Given the description of an element on the screen output the (x, y) to click on. 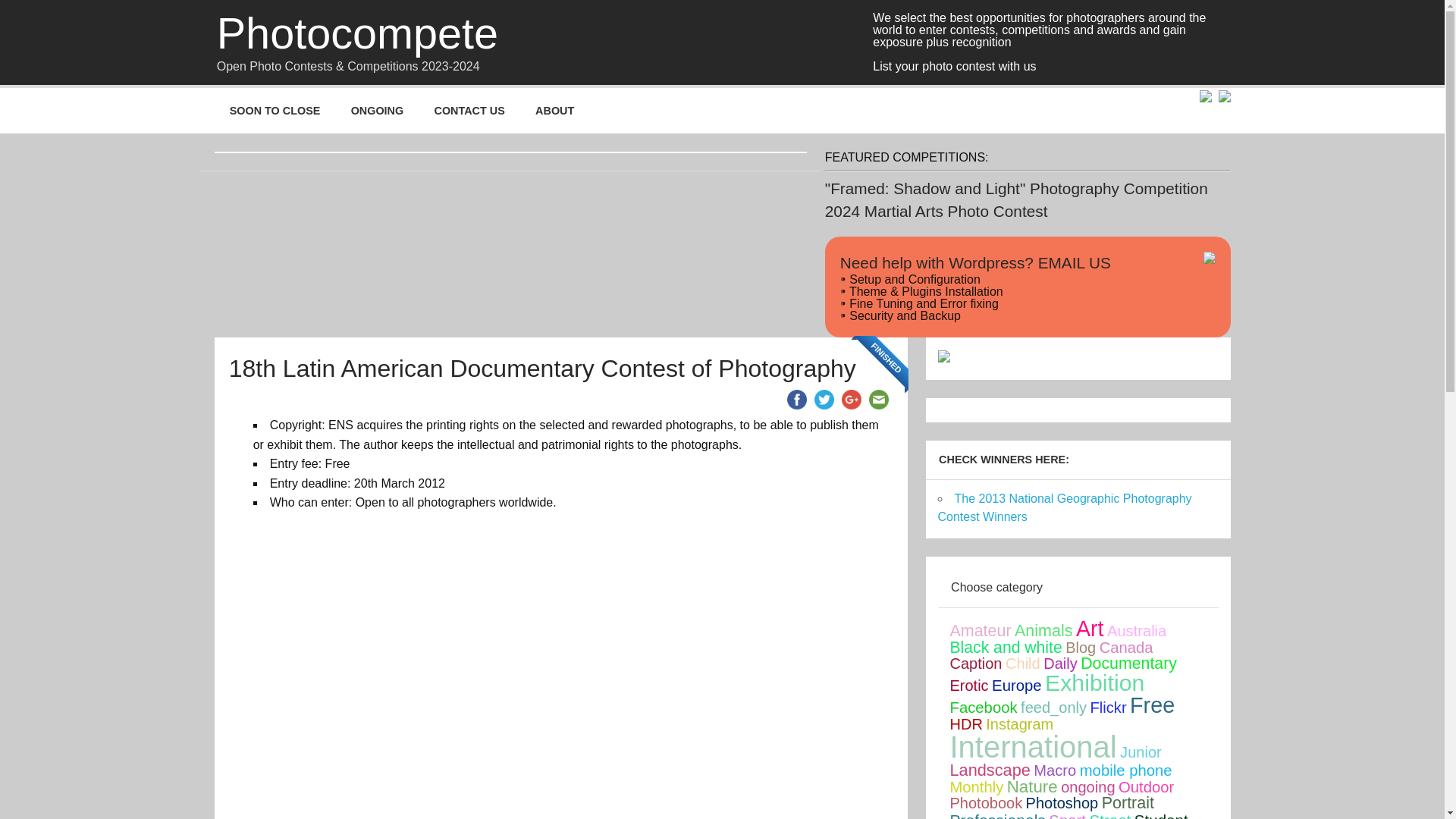
4 topics (1080, 647)
Amateur (979, 630)
31 topics (1136, 630)
Photocompete (356, 34)
The 2013 National Geographic Photography Contest Winners (1064, 507)
CONTACT US (469, 110)
ABOUT (554, 110)
"Framed: Shadow and Light" Photography Competition (1016, 188)
310 topics (979, 630)
1849 topics (1089, 628)
Anti-SPAM Protection (1120, 262)
60 topics (1126, 647)
Facebook (796, 399)
Animals (1042, 630)
253 topics (1005, 647)
